Given the description of an element on the screen output the (x, y) to click on. 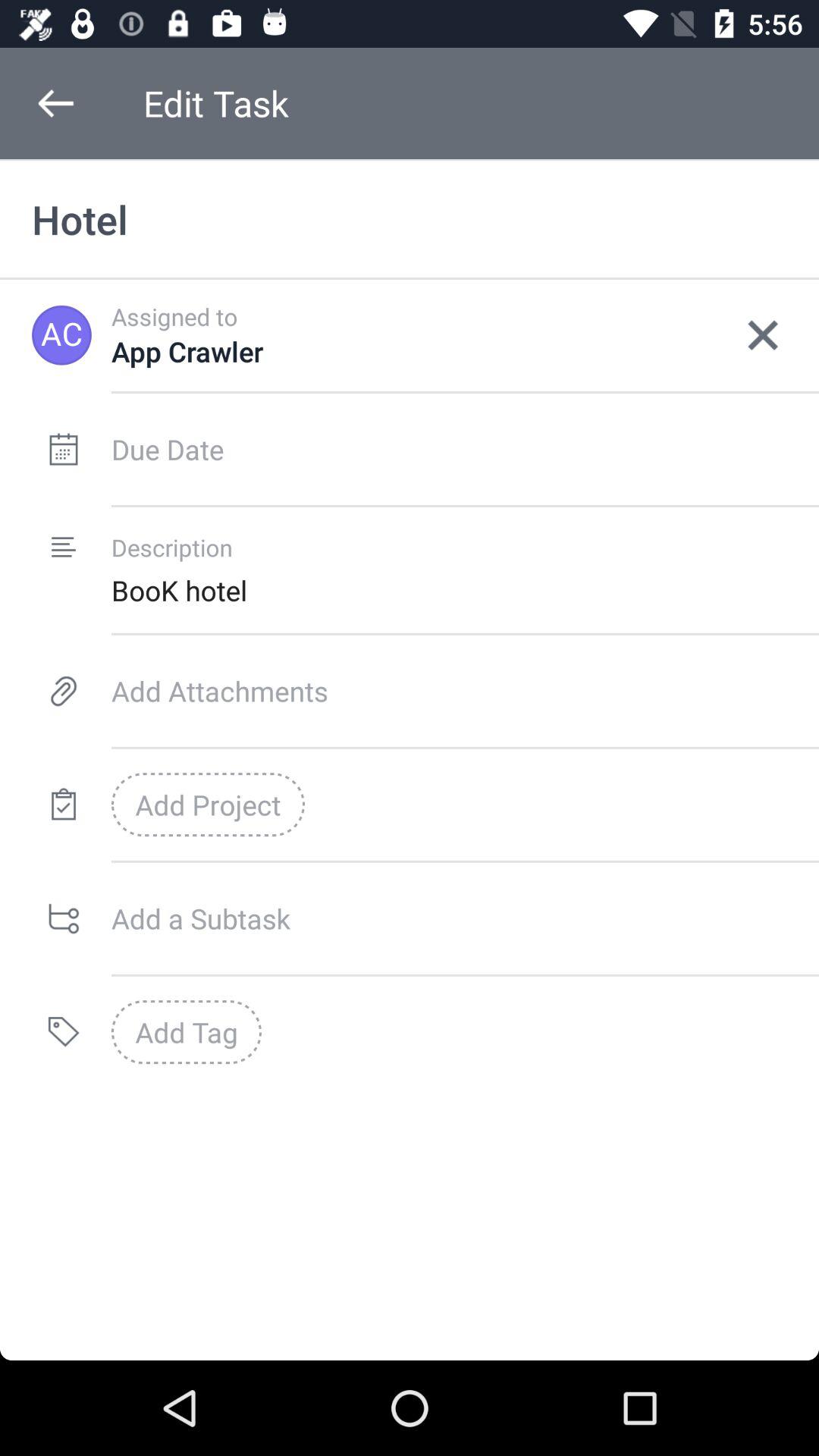
tap the item above add project (465, 690)
